Given the description of an element on the screen output the (x, y) to click on. 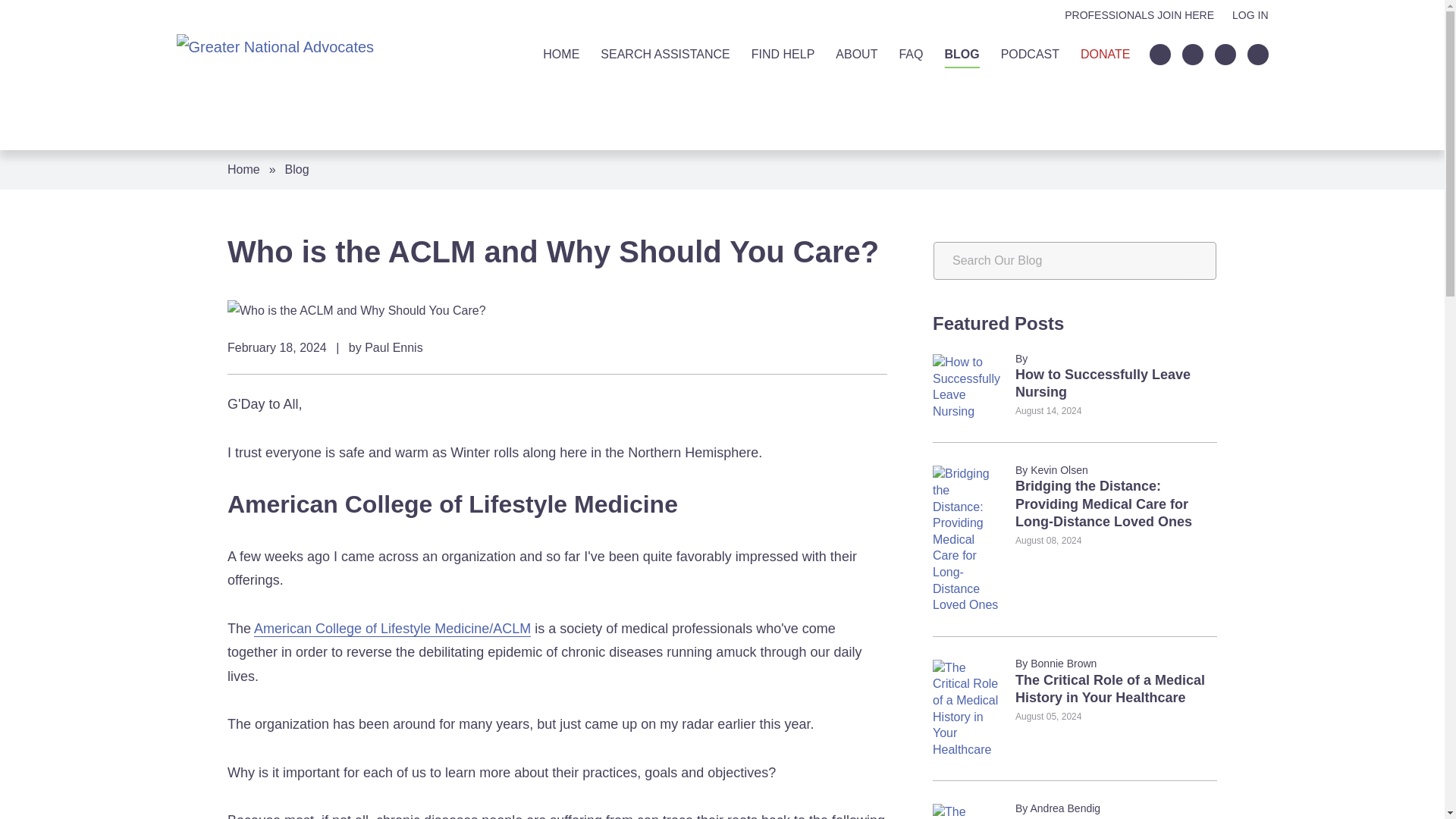
SEARCH ASSISTANCE (664, 53)
ABOUT (856, 53)
How to Successfully Leave Nursing (968, 386)
The Power of a Patient Advocate: A Story of Success (968, 811)
HOME (561, 53)
BLOG (960, 53)
Log in (1249, 15)
LOG IN (1249, 15)
by Paul Ennis (386, 347)
